Given the description of an element on the screen output the (x, y) to click on. 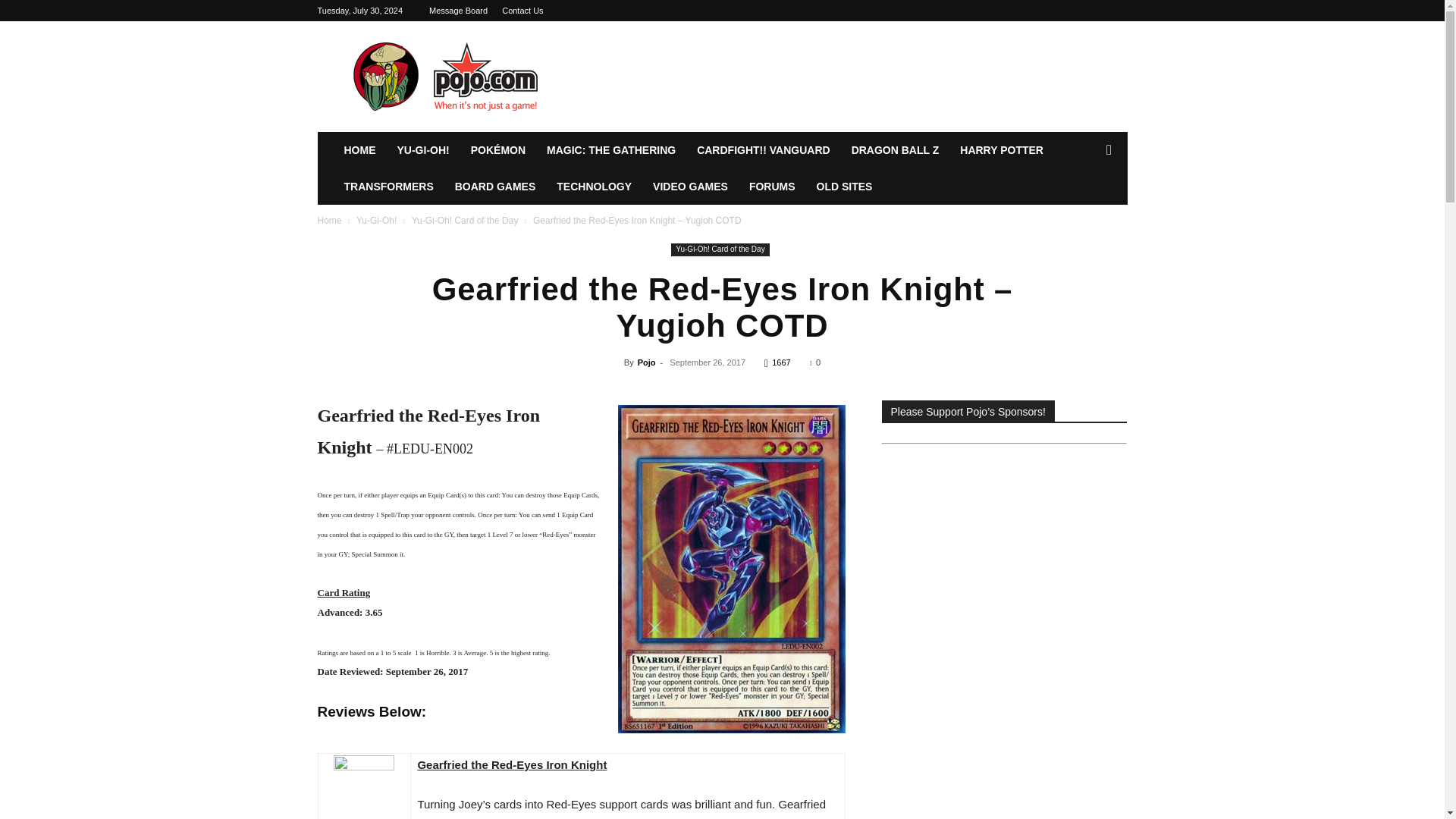
View all posts in Yu-Gi-Oh! (376, 220)
View all posts in Yu-Gi-Oh! Card of the Day (465, 220)
Pojo.com (445, 76)
